Given the description of an element on the screen output the (x, y) to click on. 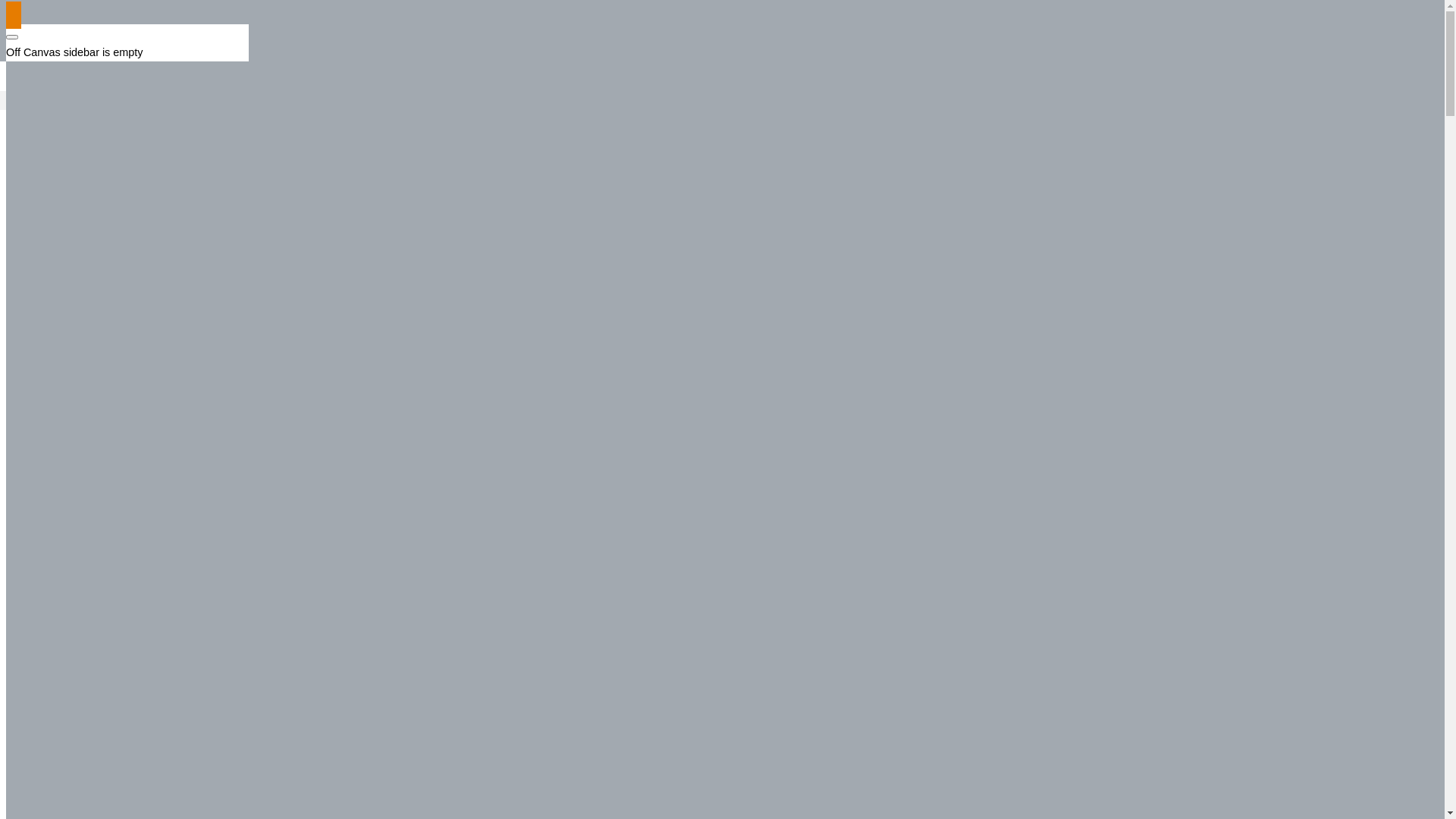
Back to Top Element type: hover (13, 14)
